Given the description of an element on the screen output the (x, y) to click on. 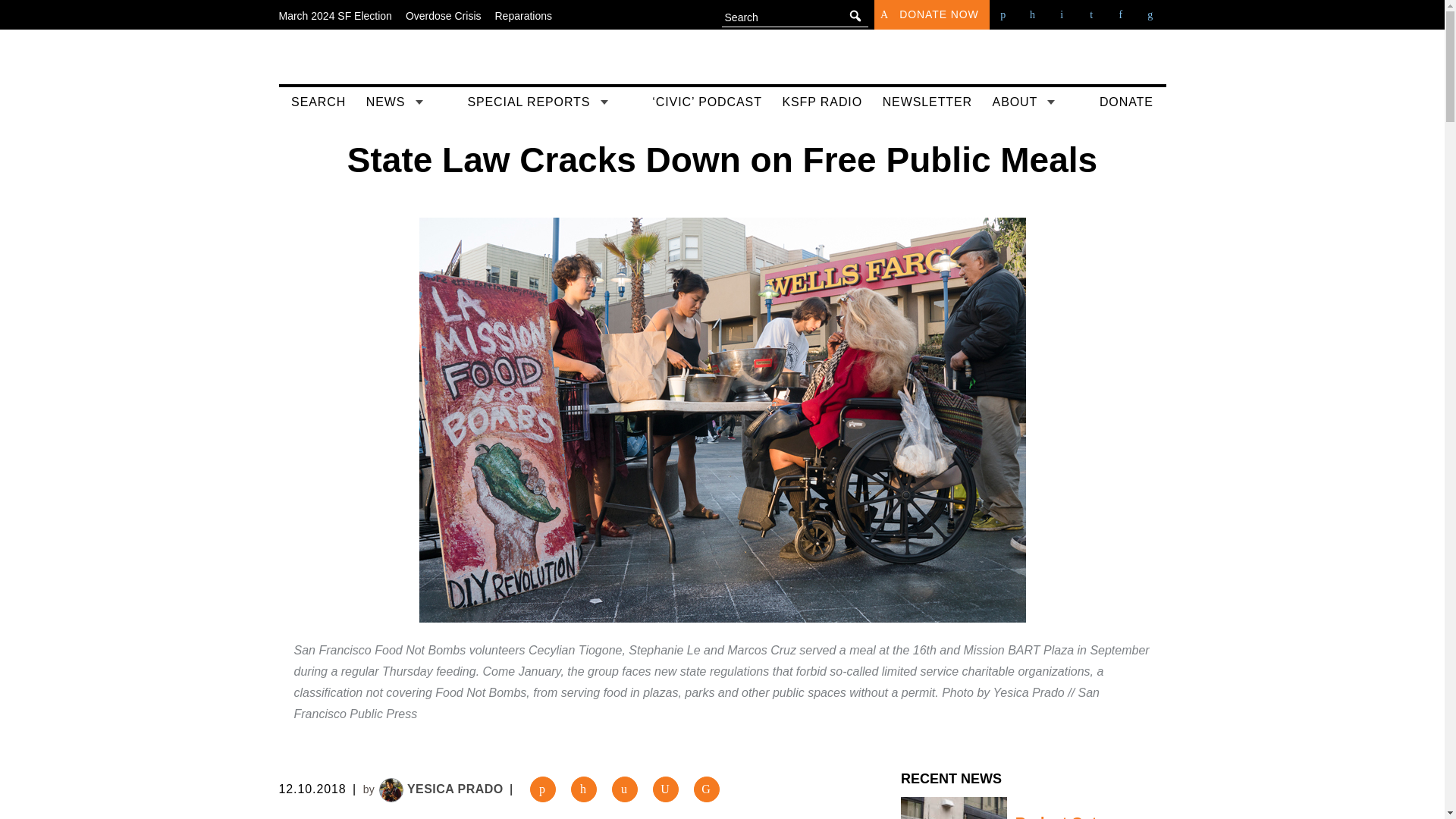
Link to Instagram Page (1092, 13)
Link to Twitter Page (1034, 13)
Print this article (665, 789)
DONATE NOW (932, 14)
Link to RSS Feed (1150, 13)
Link to Facebook Profile (1003, 13)
Link to YouTube Page (1061, 13)
March 2024 SF Election (335, 15)
NEWS (406, 103)
DONATE NOW (938, 19)
